Given the description of an element on the screen output the (x, y) to click on. 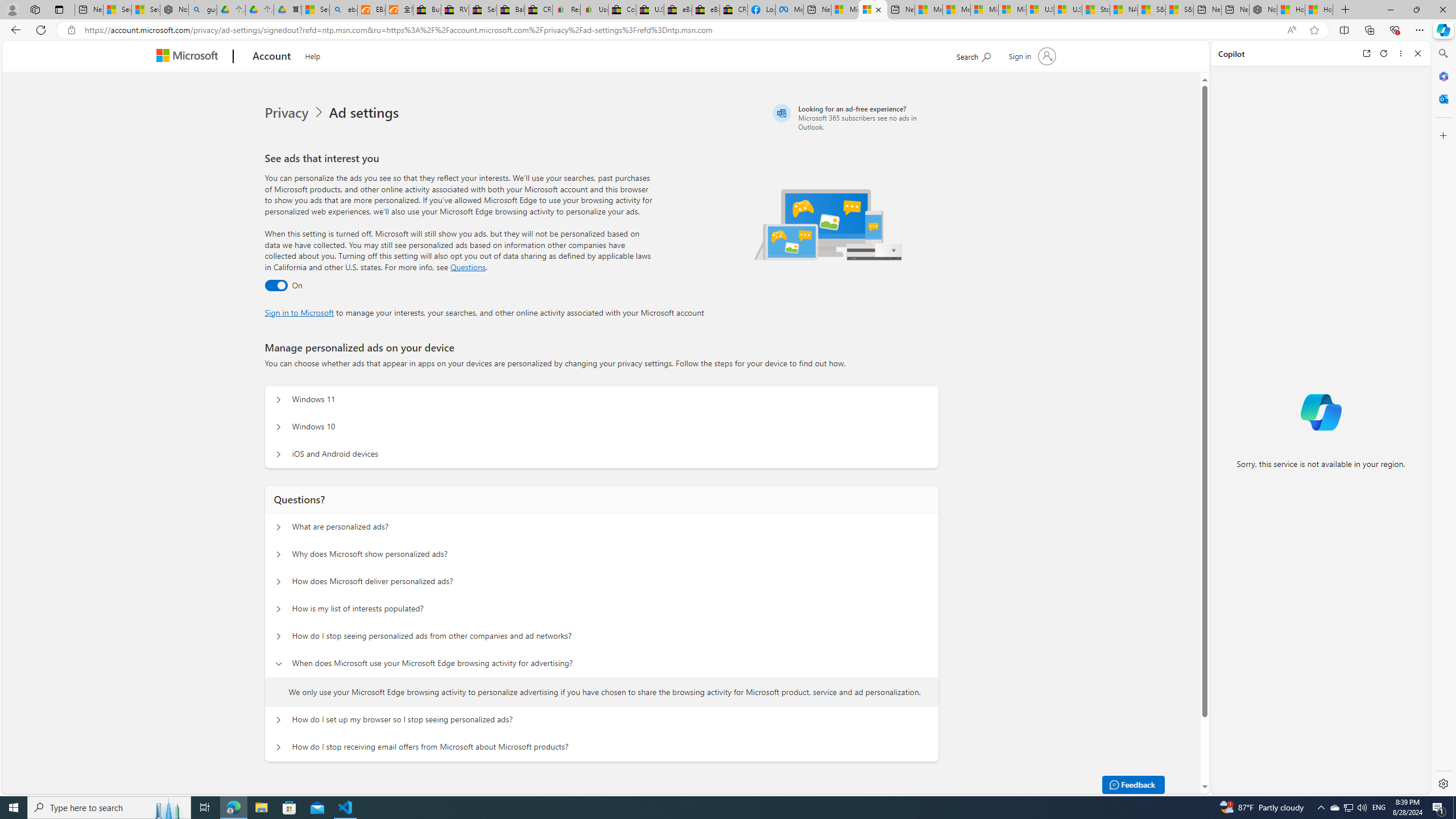
Sign in to your account (1031, 55)
Questions? How does Microsoft deliver personalized ads? (278, 581)
Outlook (1442, 98)
